Given the description of an element on the screen output the (x, y) to click on. 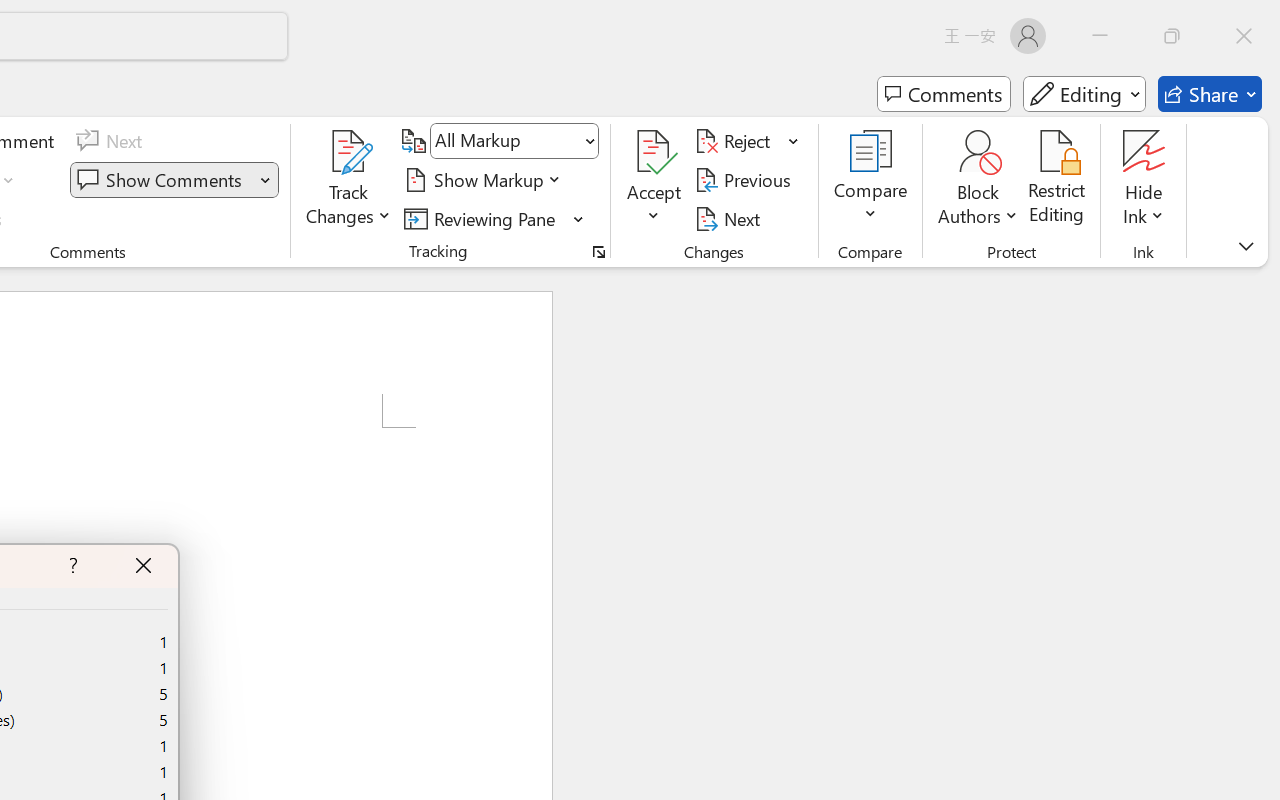
Block Authors (977, 151)
Block Authors (977, 179)
Track Changes (349, 151)
Reject (747, 141)
Next (730, 218)
Display for Review (514, 141)
Track Changes (349, 179)
